Given the description of an element on the screen output the (x, y) to click on. 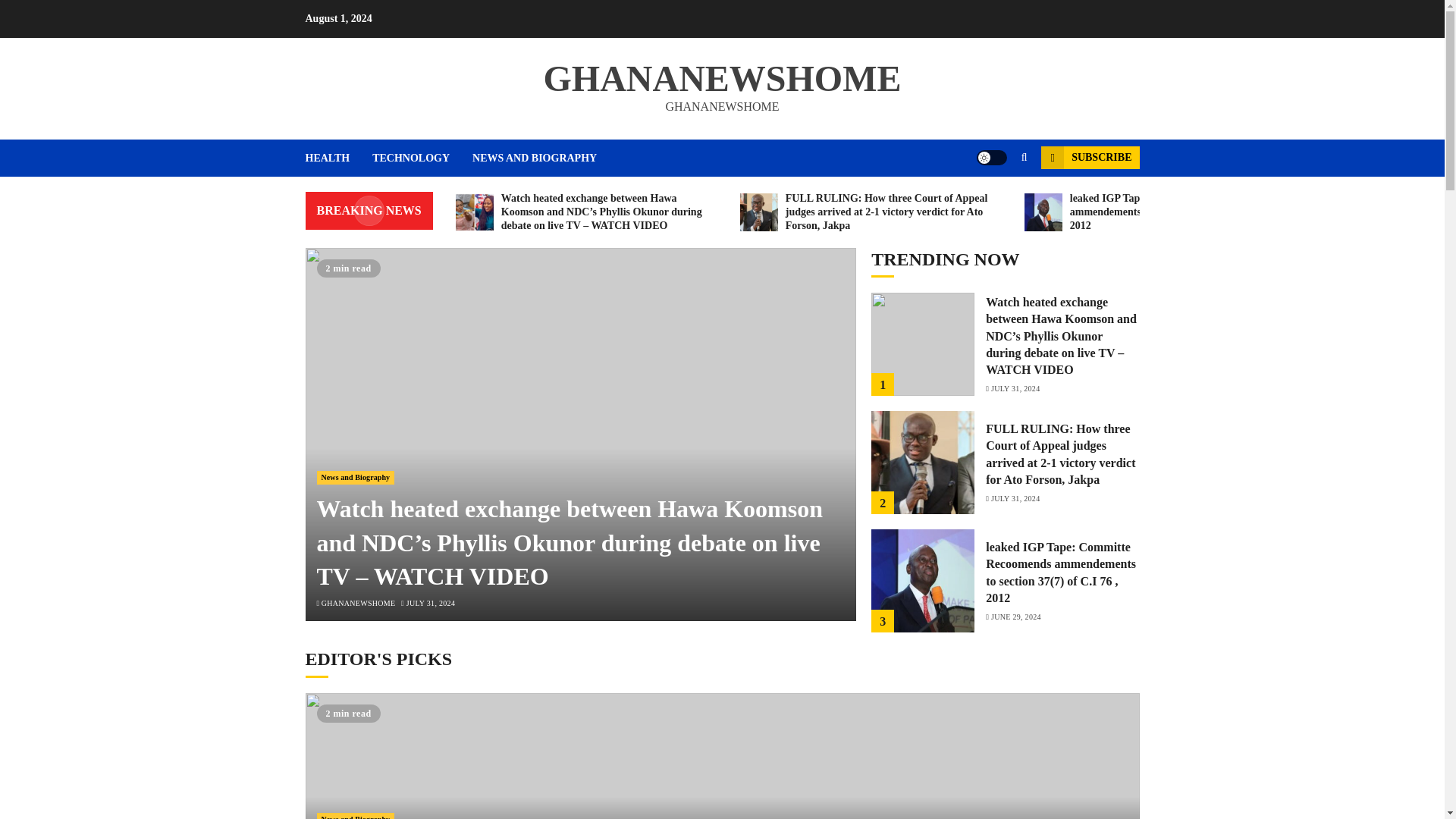
NEWS AND BIOGRAPHY (533, 157)
JULY 31, 2024 (430, 603)
GHANANEWSHOME (358, 603)
Search (994, 203)
HEALTH (338, 157)
SUBSCRIBE (1089, 157)
TECHNOLOGY (421, 157)
GHANANEWSHOME (722, 78)
News and Biography (355, 477)
